Given the description of an element on the screen output the (x, y) to click on. 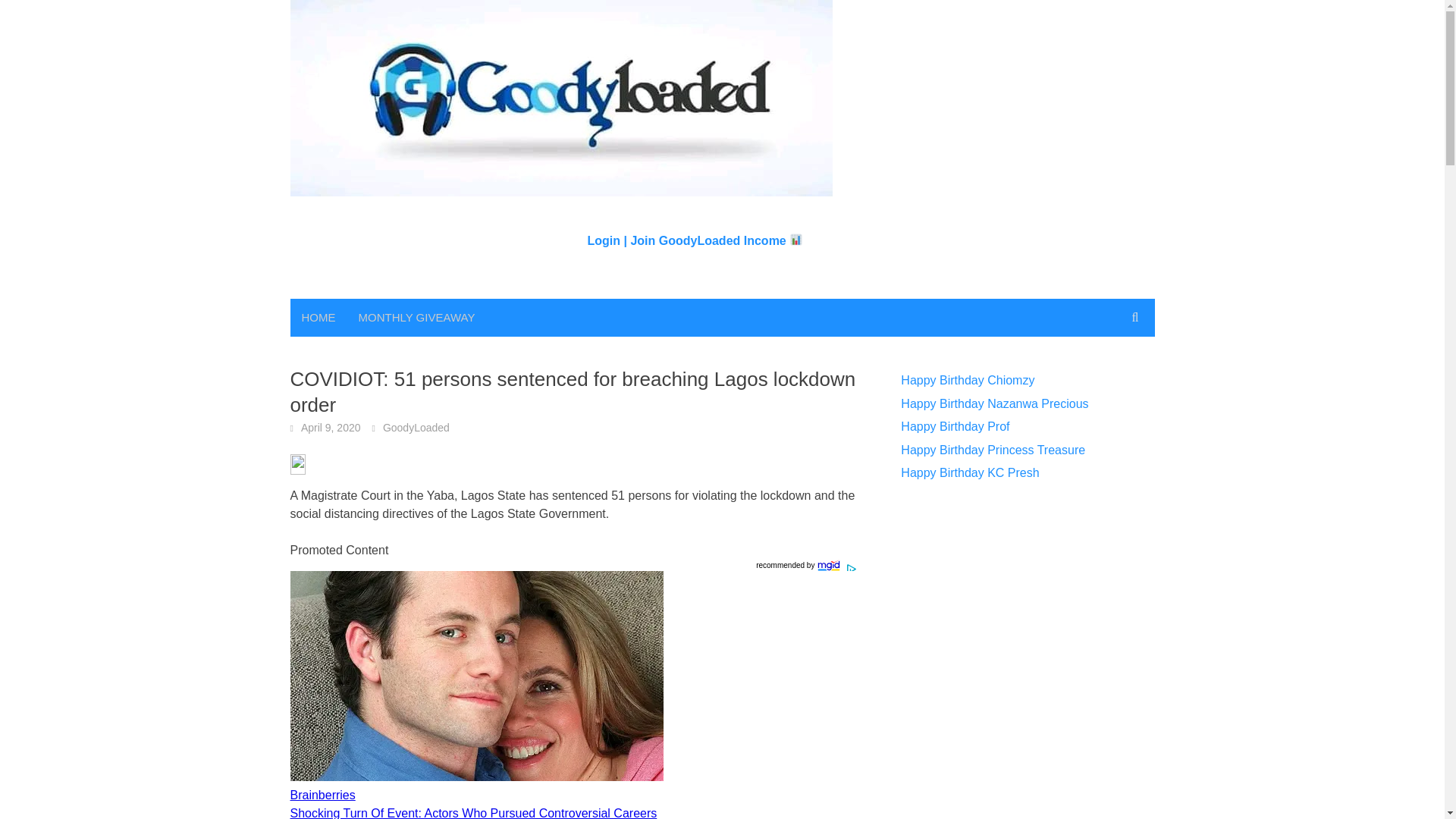
Join GoodyLoaded Income (716, 239)
MONTHLY GIVEAWAY (416, 317)
Happy Birthday Nazanwa Precious (994, 403)
Happy Birthday Princess Treasure (992, 449)
April 9, 2020 (331, 427)
Happy Birthday Prof (955, 426)
Happy Birthday KC Presh (970, 472)
HOME (317, 317)
GoodyLoaded (415, 427)
Happy Birthday Chiomzy (967, 379)
